Given the description of an element on the screen output the (x, y) to click on. 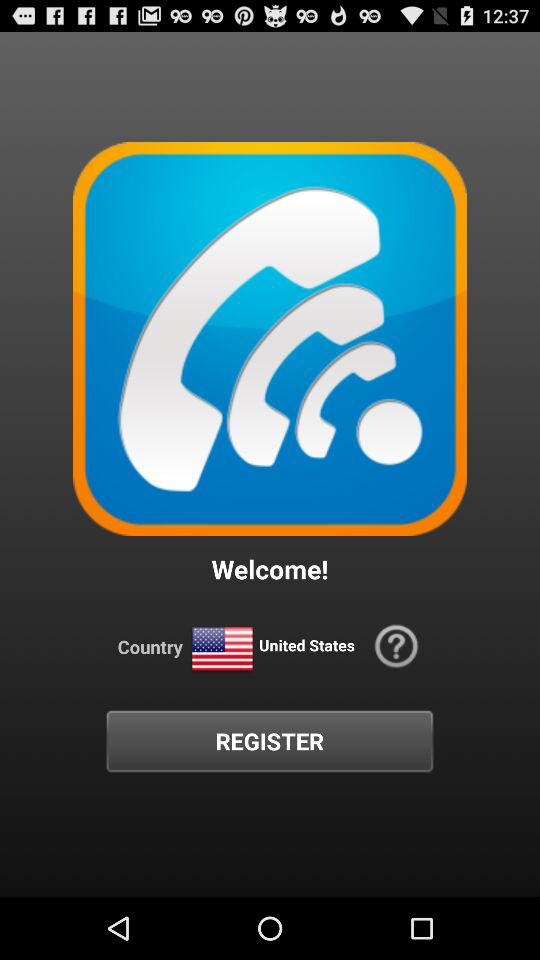
click the icon to the right of the united states icon (396, 646)
